Given the description of an element on the screen output the (x, y) to click on. 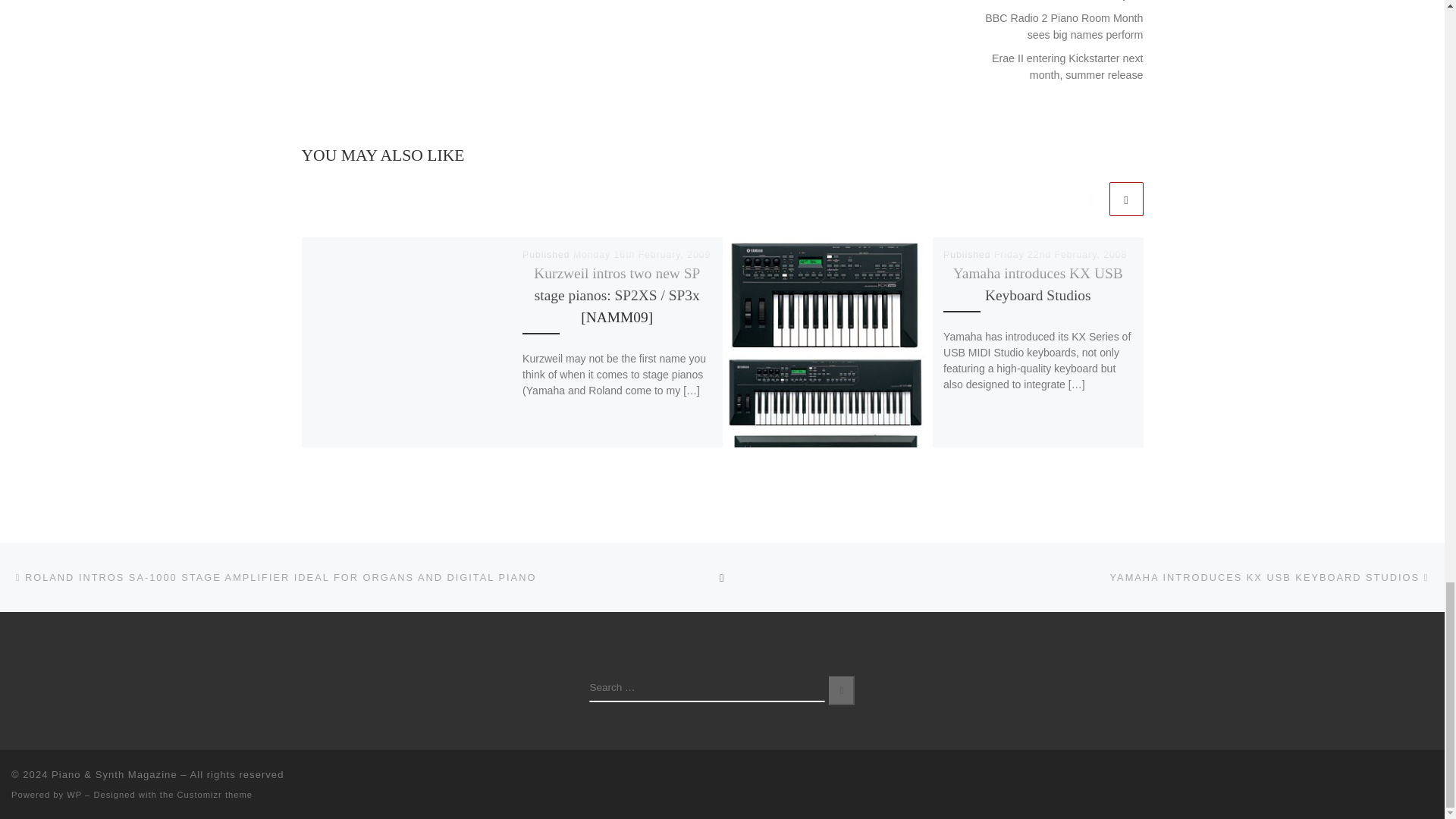
Yamaha introduces KX USB Keyboard Studios (1037, 284)
Next related articles (1125, 198)
Monday 16th February, 2009 (641, 254)
Powered by WordPress (73, 794)
Previous related articles (1092, 198)
Friday 22nd February, 2008 (1060, 254)
